Given the description of an element on the screen output the (x, y) to click on. 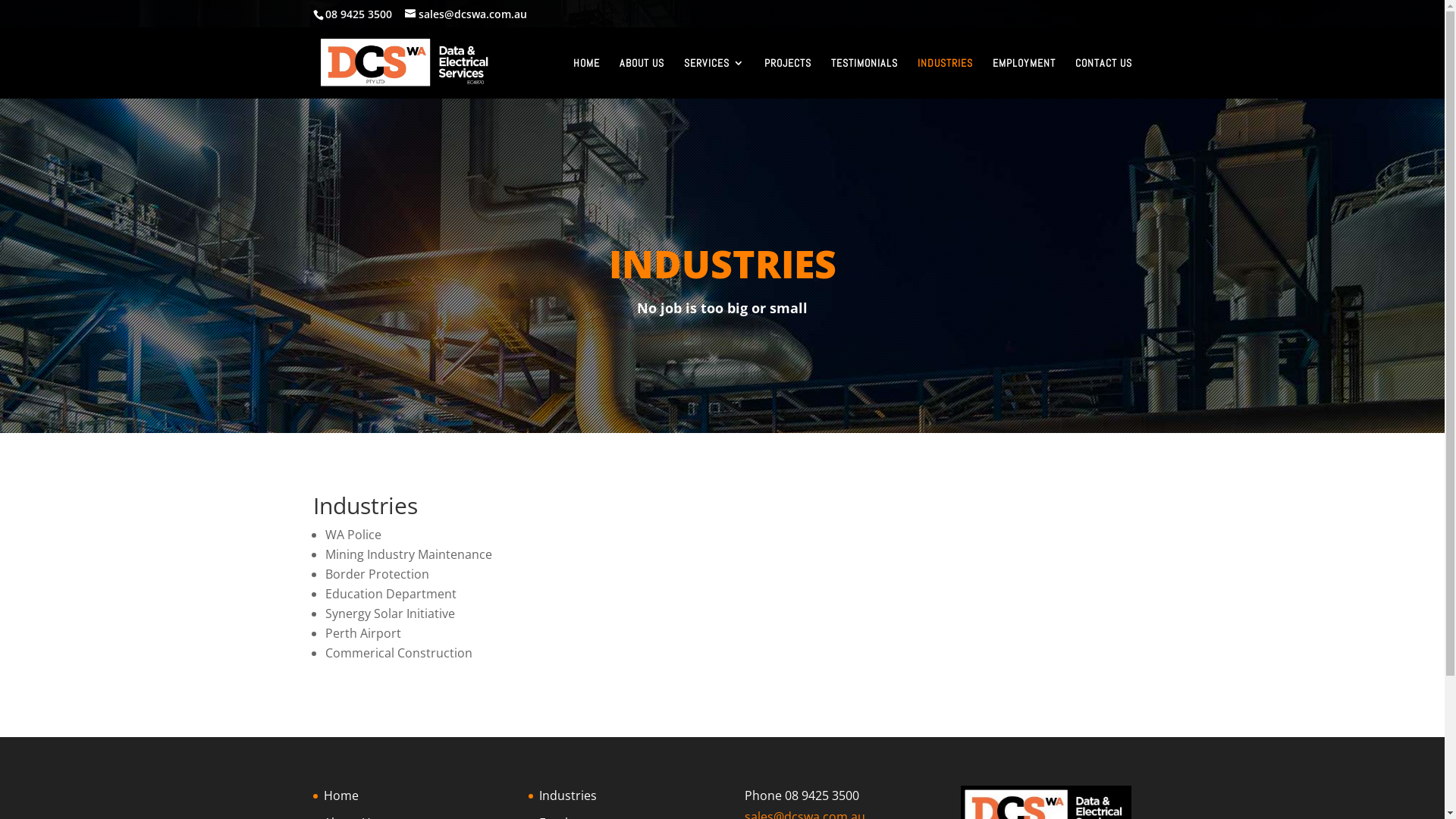
ABOUT US Element type: text (640, 77)
Home Element type: text (340, 795)
HOME Element type: text (586, 77)
SERVICES Element type: text (714, 77)
TESTIMONIALS Element type: text (864, 77)
INDUSTRIES Element type: text (944, 77)
Industries Element type: text (567, 795)
EMPLOYMENT Element type: text (1022, 77)
PROJECTS Element type: text (787, 77)
sales@dcswa.com.au Element type: text (465, 13)
CONTACT US Element type: text (1103, 77)
